Given the description of an element on the screen output the (x, y) to click on. 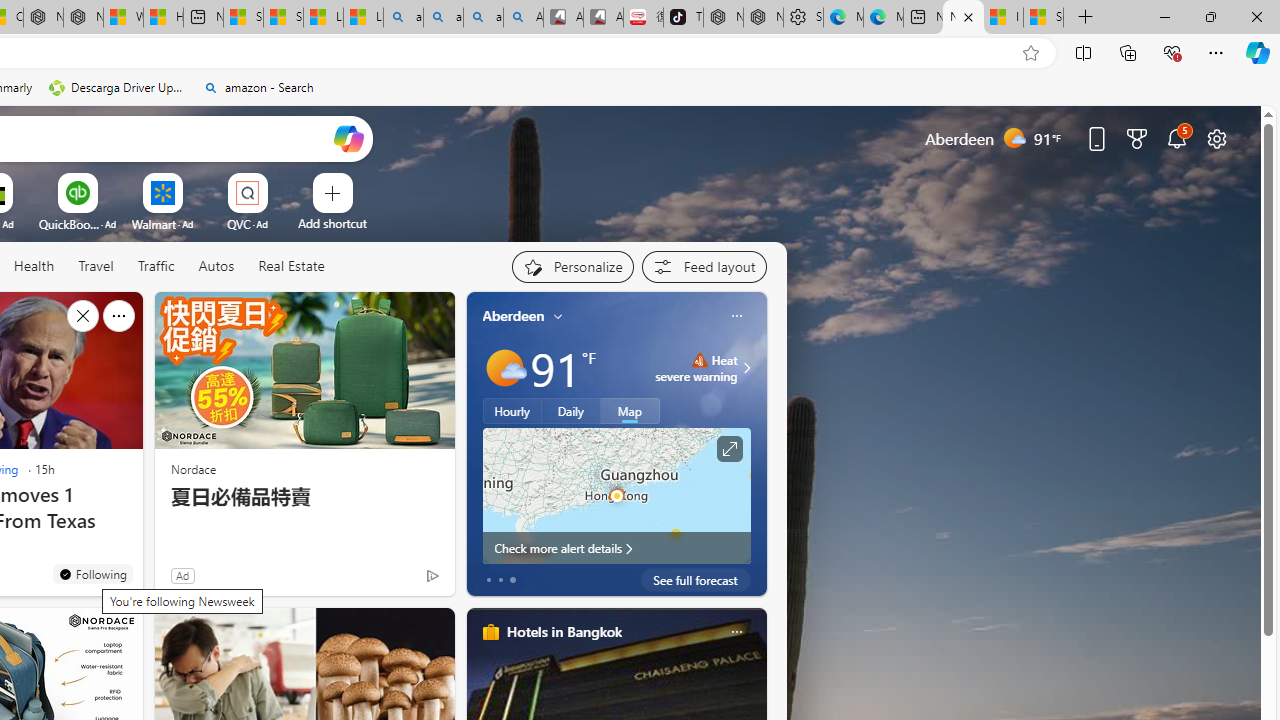
Heat - Severe Heat severe warning (696, 367)
Health (34, 265)
Autos (215, 265)
Heat - Severe (699, 359)
Larger map  (616, 495)
Settings (803, 17)
Feed settings (703, 266)
See more (118, 315)
Ad (182, 575)
